Given the description of an element on the screen output the (x, y) to click on. 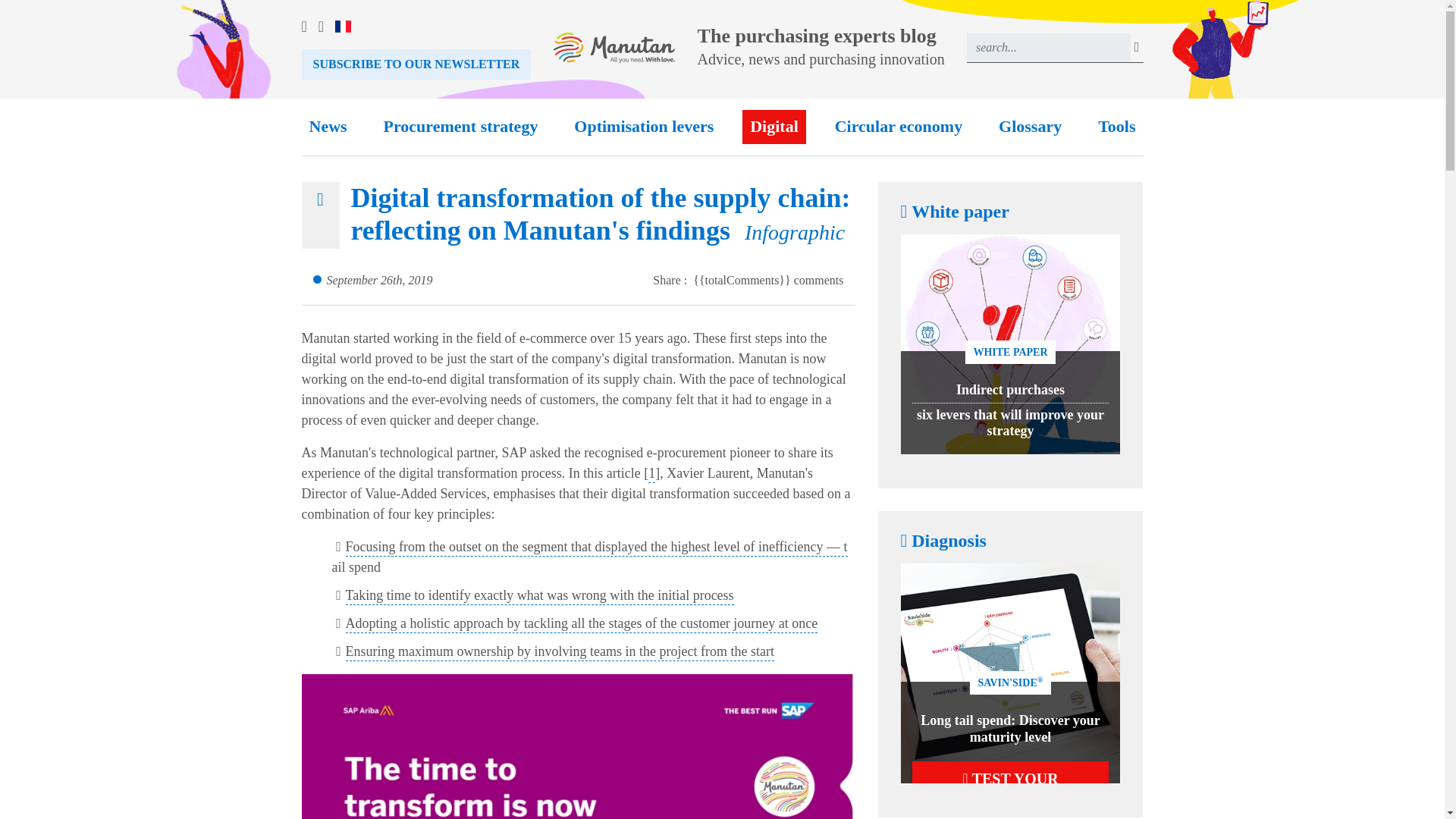
Circular economy (898, 126)
SUBSCRIBE TO OUR NEWSLETTER (416, 64)
Long tail spend: Discover your maturity level (1010, 728)
3 quick tips (578, 746)
Glossary (1029, 126)
Optimisation levers (643, 126)
News (328, 126)
Tools (1116, 126)
Procurement strategy (460, 126)
Digital (774, 126)
